Given the description of an element on the screen output the (x, y) to click on. 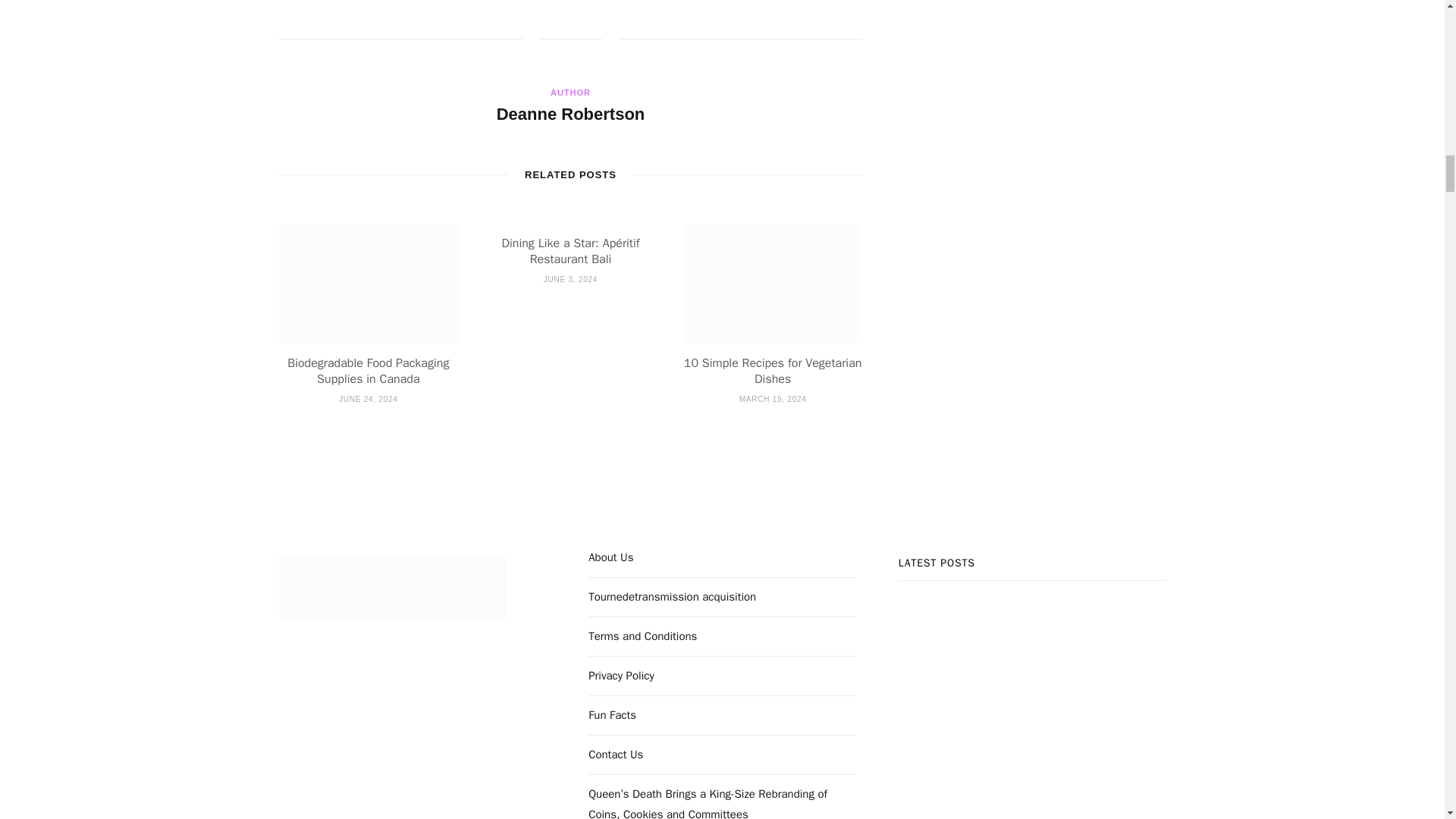
Deanne Robertson (570, 114)
JUNE 3, 2024 (569, 279)
Posts by Deanne Robertson (570, 114)
JUNE 24, 2024 (368, 398)
LATEST POSTS (1032, 687)
Biodegradable Food Packaging Supplies in Canada (367, 371)
Biodegradable Food Packaging Supplies in Canada (368, 283)
